Given the description of an element on the screen output the (x, y) to click on. 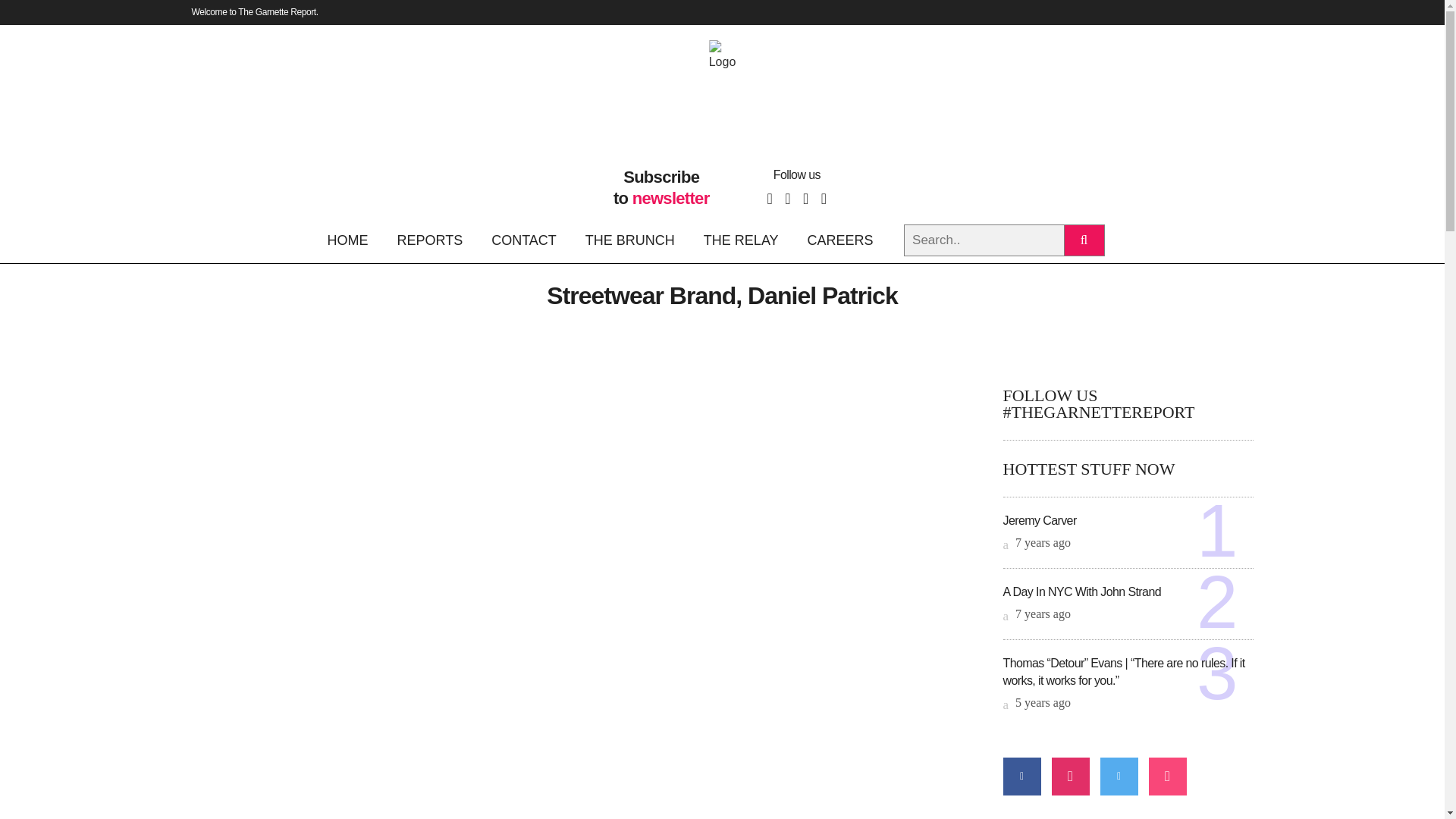
A Day In NYC With John Strand (1081, 591)
Jeremy Carver (1039, 520)
REPORTS (429, 239)
THE BRUNCH (629, 239)
HOME (353, 239)
CONTACT (523, 239)
THE RELAY (740, 239)
CAREERS (840, 239)
